Given the description of an element on the screen output the (x, y) to click on. 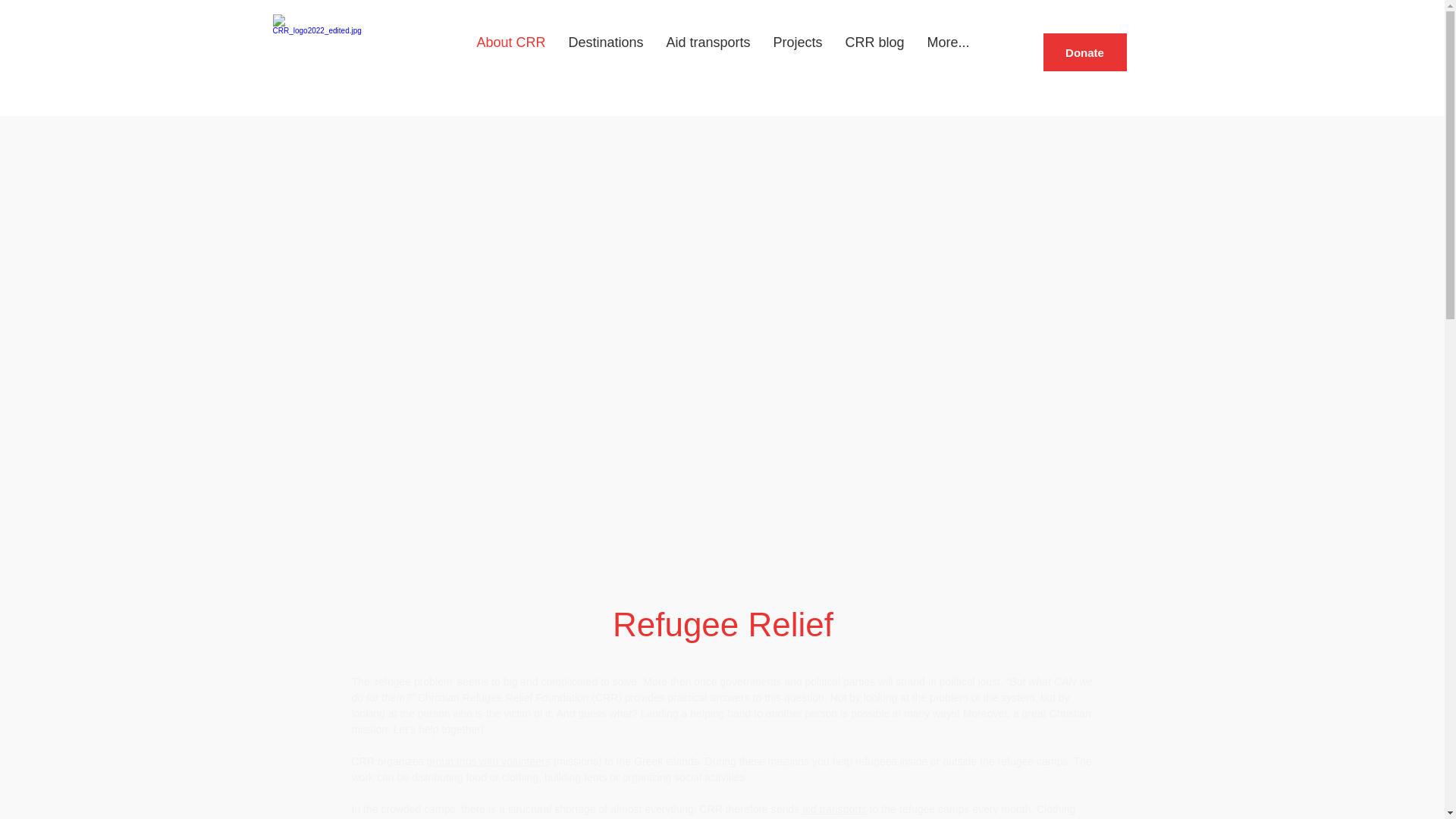
CRR blog (874, 49)
Donate (1084, 52)
About CRR (510, 49)
Aid transports (707, 49)
Projects (797, 49)
group trips with volunteers (488, 761)
aid transports (834, 808)
Destinations (604, 49)
